Given the description of an element on the screen output the (x, y) to click on. 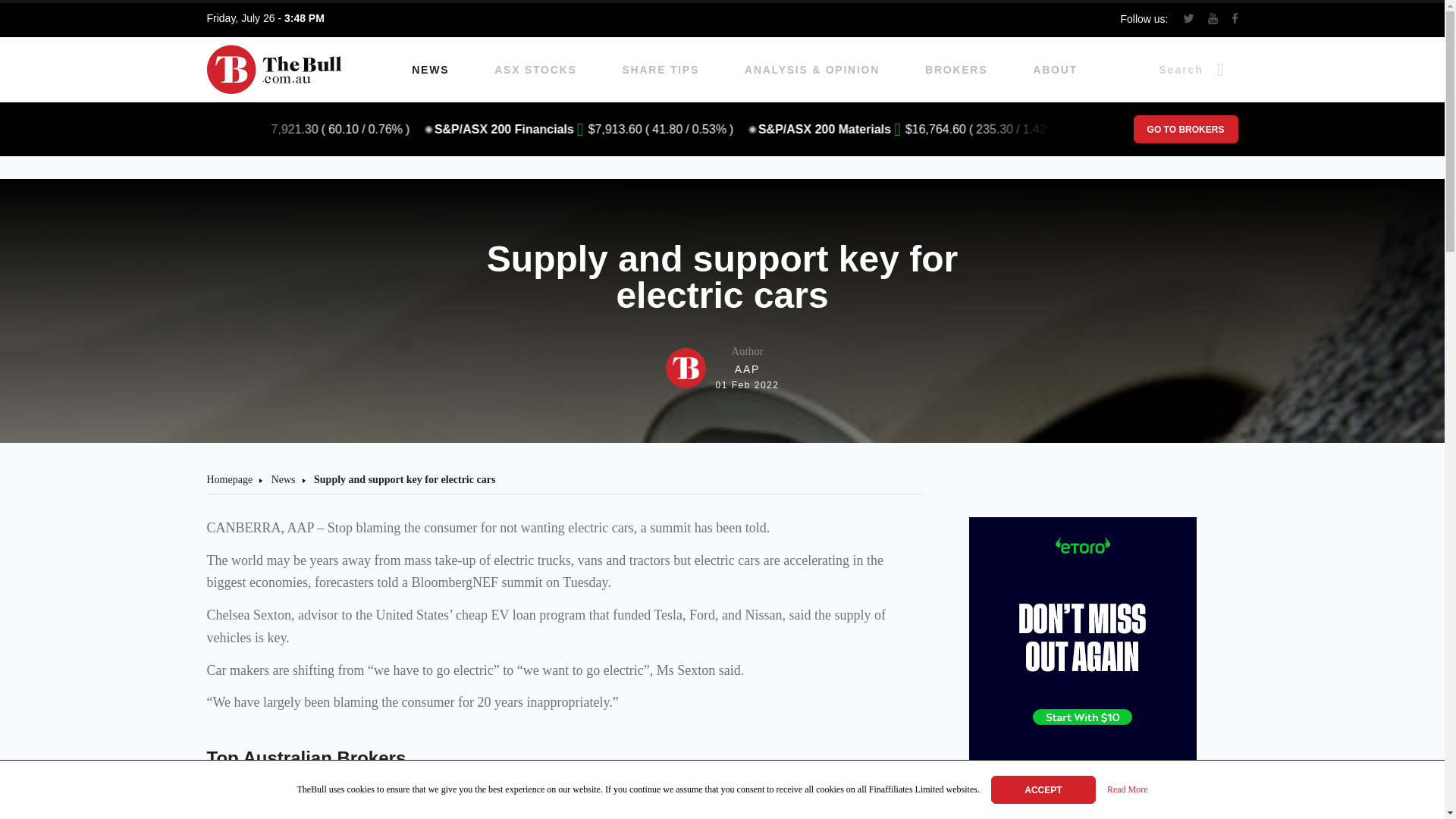
ABOUT (1054, 69)
eToro (237, 806)
NEWS (430, 69)
News (282, 479)
ACCEPT (1043, 789)
BROKERS (955, 69)
Read More (1127, 789)
Read our review (721, 367)
SHARE TIPS (500, 806)
GO TO BROKERS (661, 69)
ASX STOCKS (1184, 129)
Homepage (535, 69)
